Given the description of an element on the screen output the (x, y) to click on. 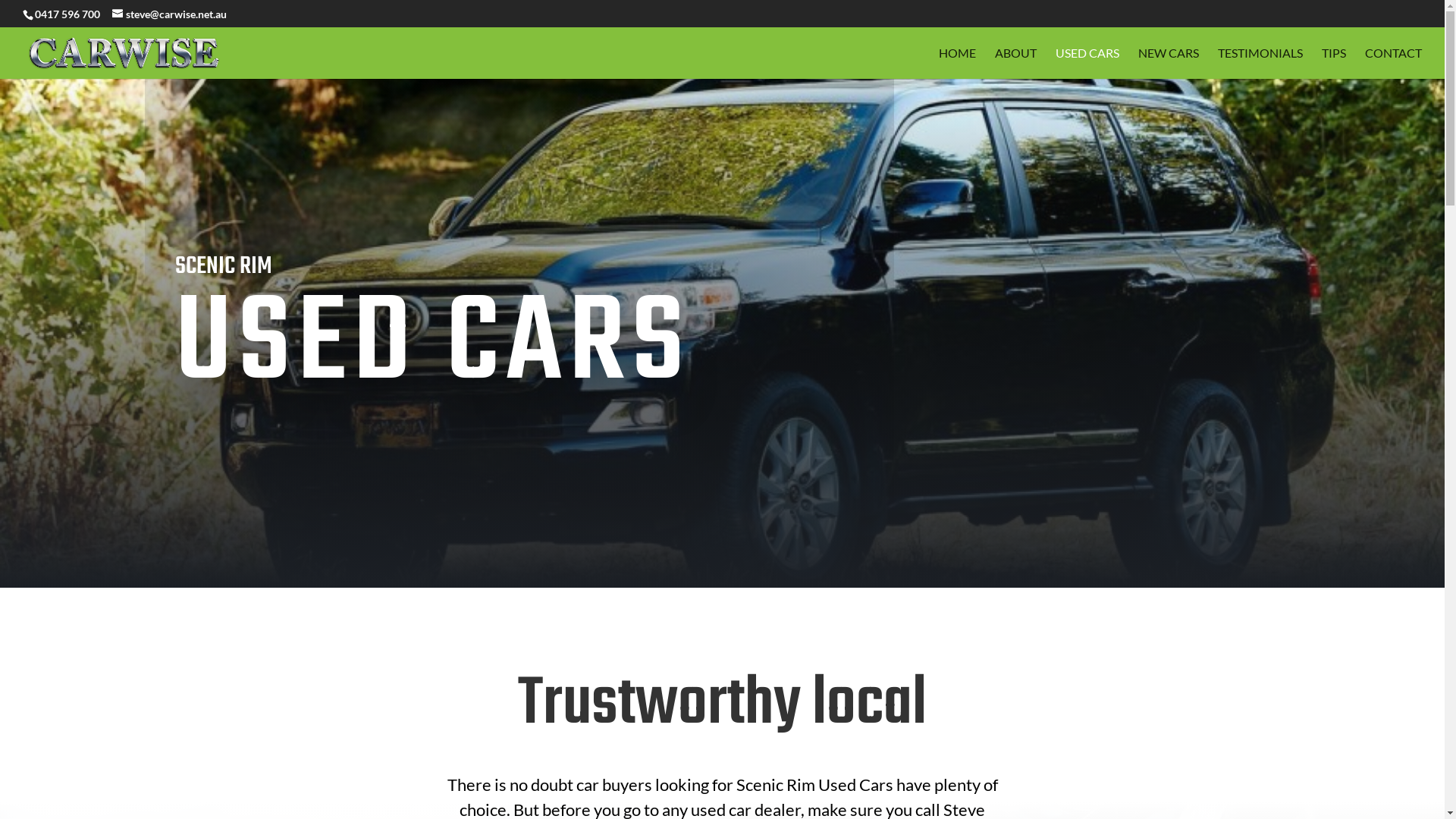
CONTACT Element type: text (1393, 62)
NEW CARS Element type: text (1168, 62)
TIPS Element type: text (1333, 62)
ABOUT Element type: text (1015, 62)
TESTIMONIALS Element type: text (1259, 62)
steve@carwise.net.au Element type: text (169, 13)
HOME Element type: text (956, 62)
USED CARS Element type: text (1087, 62)
